Given the description of an element on the screen output the (x, y) to click on. 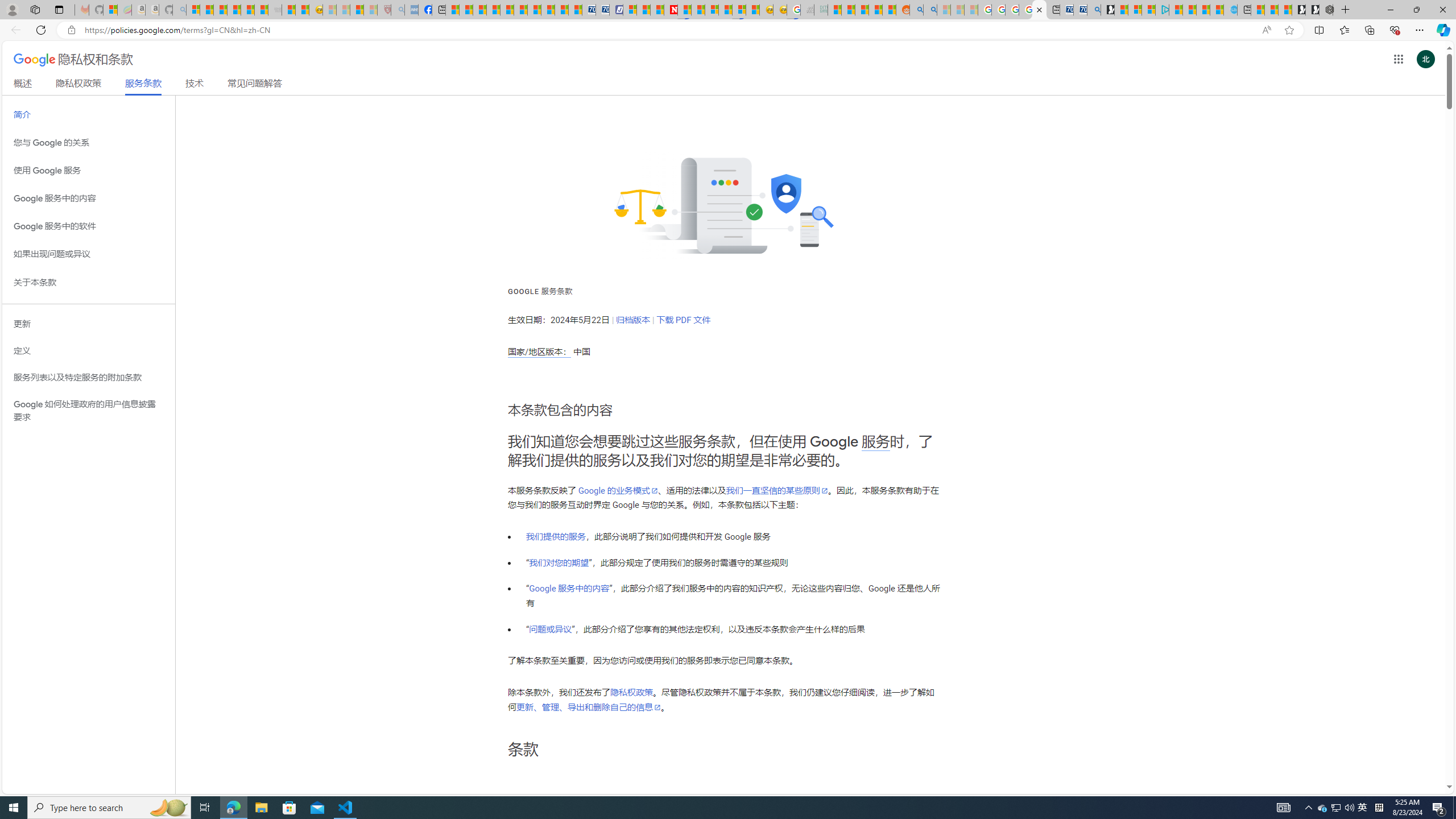
Utah sues federal government - Search (930, 9)
Combat Siege - Sleeping (274, 9)
Class: gb_E (1398, 59)
